Given the description of an element on the screen output the (x, y) to click on. 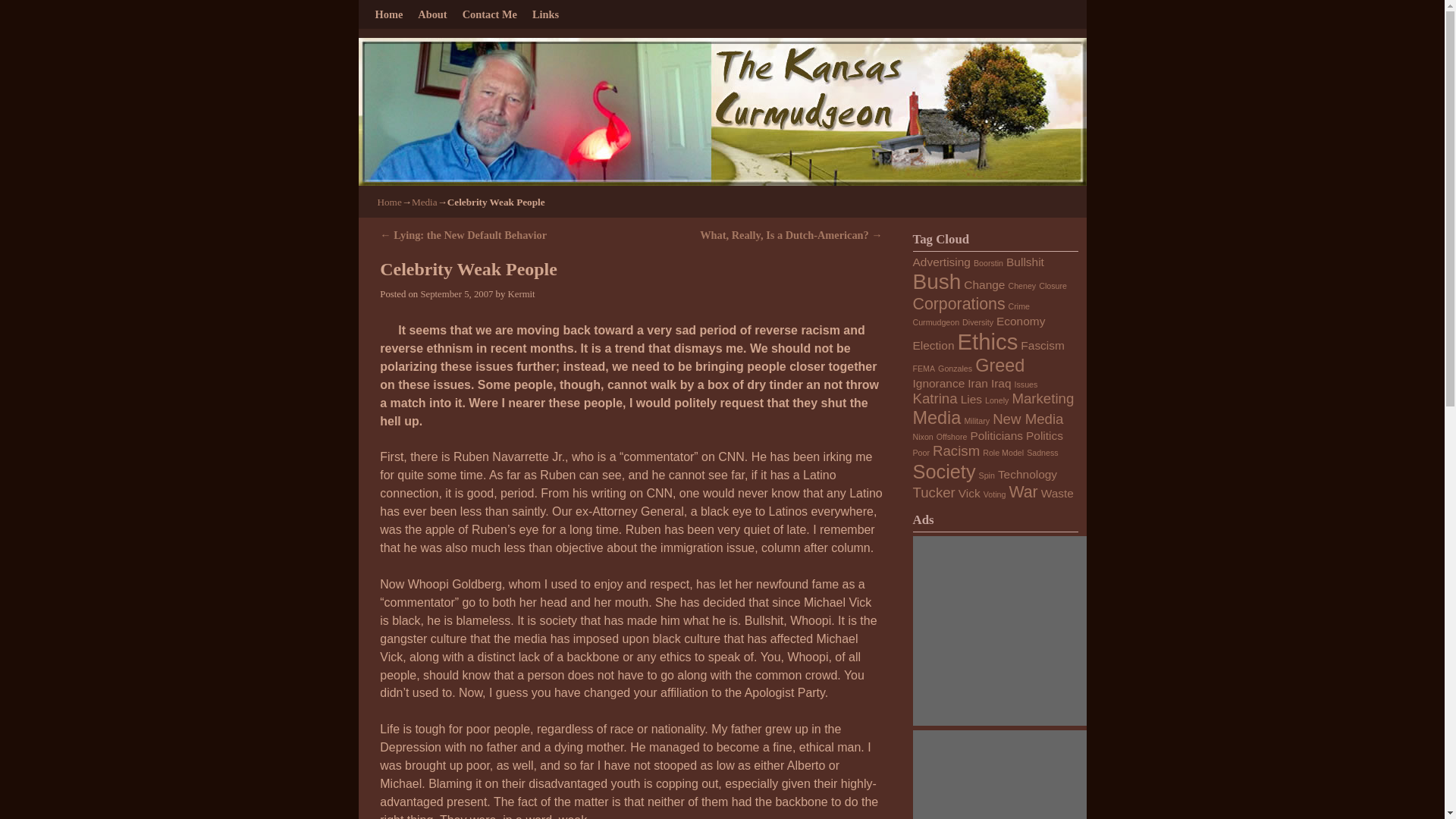
Corporations (959, 303)
Ethics (986, 341)
Crime (1019, 306)
Closure (1053, 285)
Economy (1020, 320)
Skip to secondary content (442, 14)
Fascism (1042, 345)
View all posts by Kermit (521, 294)
Advertisement (1007, 630)
Home (389, 202)
11:17 pm (456, 294)
Boorstin (988, 262)
Bush (936, 281)
Permalink to Celebrity Weak People (468, 269)
Bullshit (1024, 261)
